Given the description of an element on the screen output the (x, y) to click on. 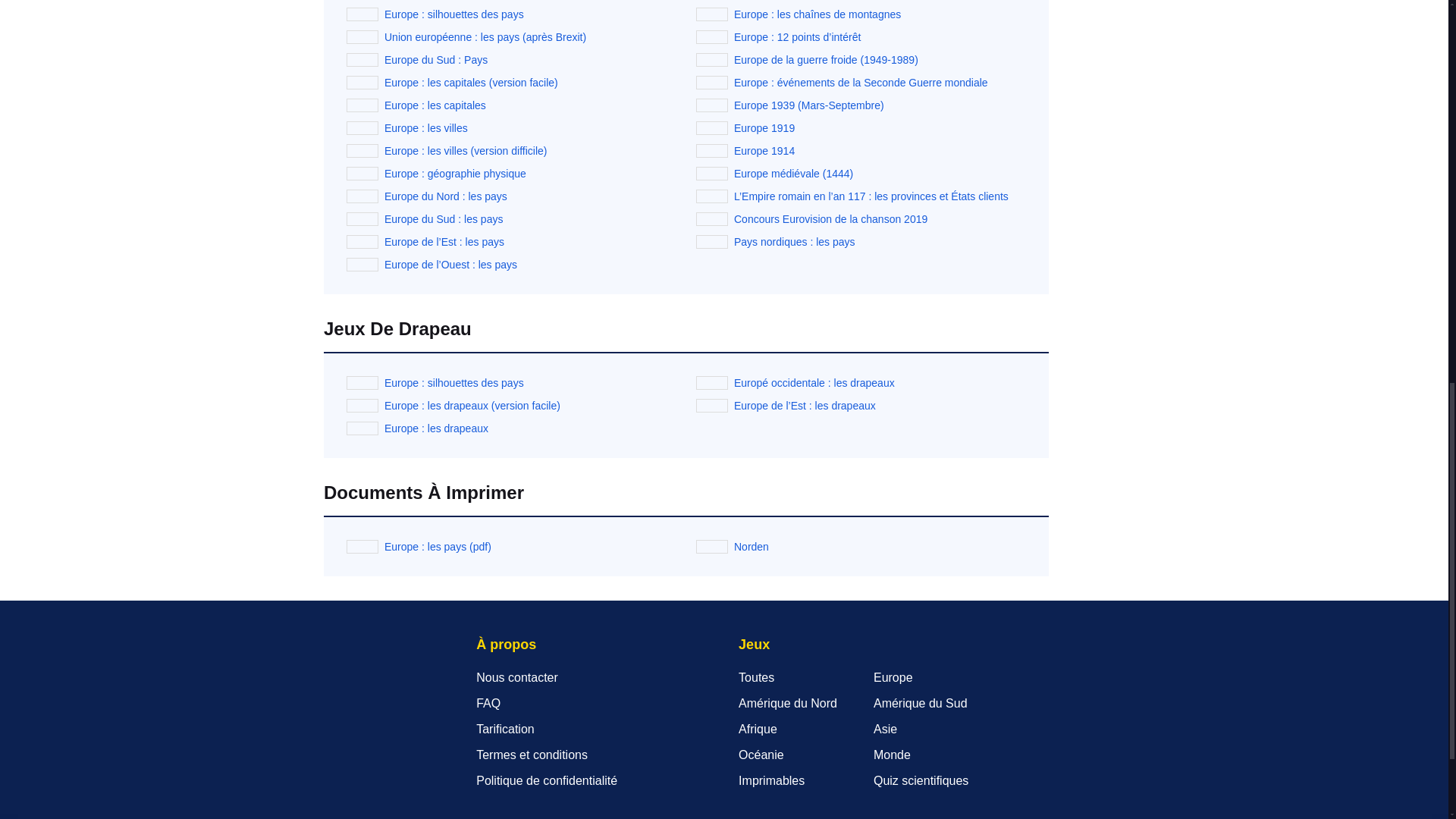
Europe : les villes (425, 128)
Europe du Nord : les pays (445, 196)
Europe : silhouettes des pays (454, 14)
Europe : les capitales (435, 105)
Europe du Sud : Pays (435, 60)
